Given the description of an element on the screen output the (x, y) to click on. 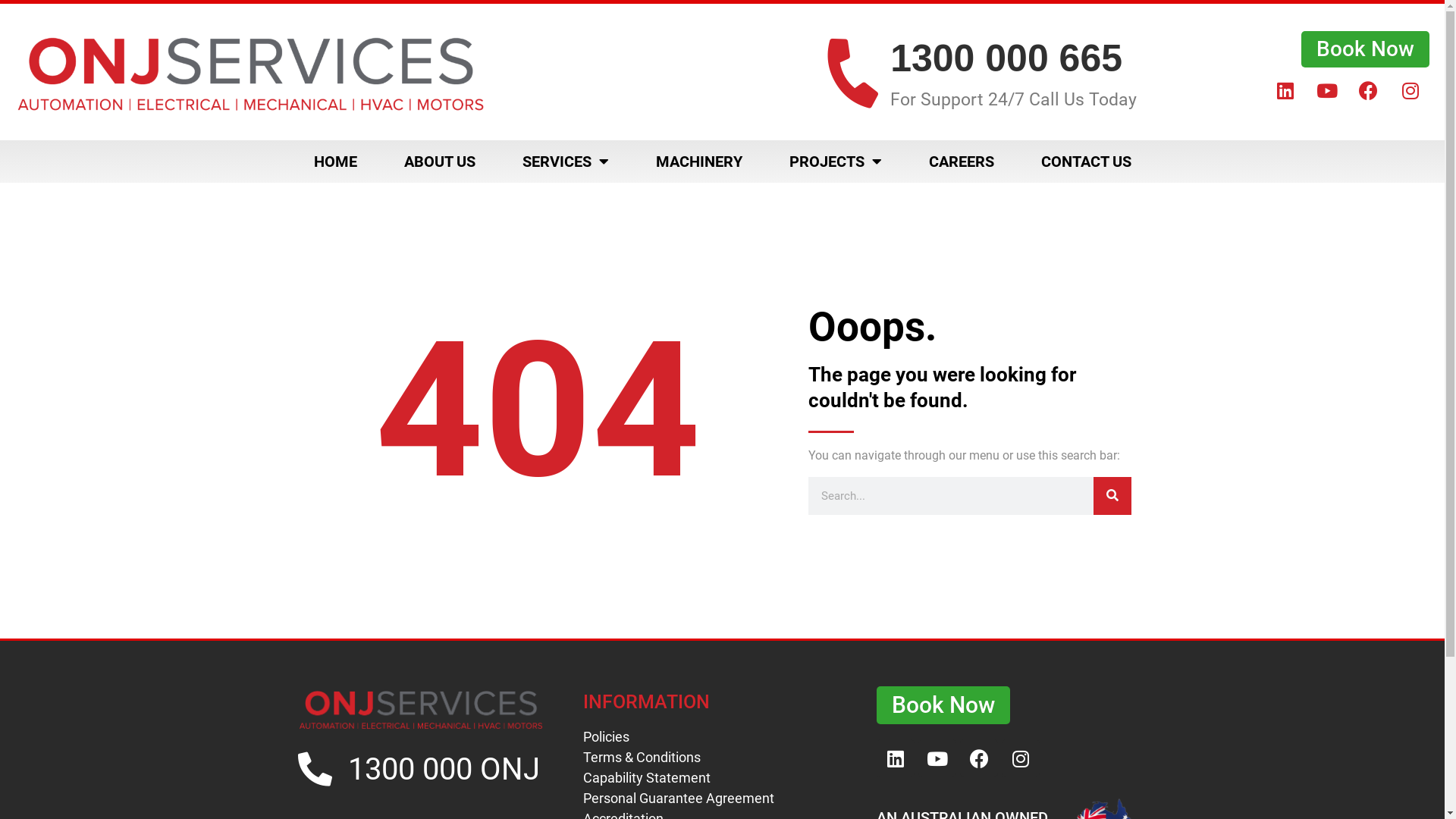
Personal Guarantee Agreement Element type: text (722, 797)
Capability Statement Element type: text (722, 777)
Policies Element type: text (722, 736)
1300 000 ONJ Element type: text (443, 769)
PROJECTS Element type: text (835, 161)
CAREERS Element type: text (961, 161)
Book Now Element type: text (943, 705)
1300 000 665 Element type: text (1006, 58)
CONTACT US Element type: text (1085, 161)
Terms & Conditions Element type: text (722, 756)
Book Now Element type: text (1365, 49)
MACHINERY Element type: text (698, 161)
ABOUT US Element type: text (439, 161)
HOME Element type: text (334, 161)
SERVICES Element type: text (565, 161)
